Given the description of an element on the screen output the (x, y) to click on. 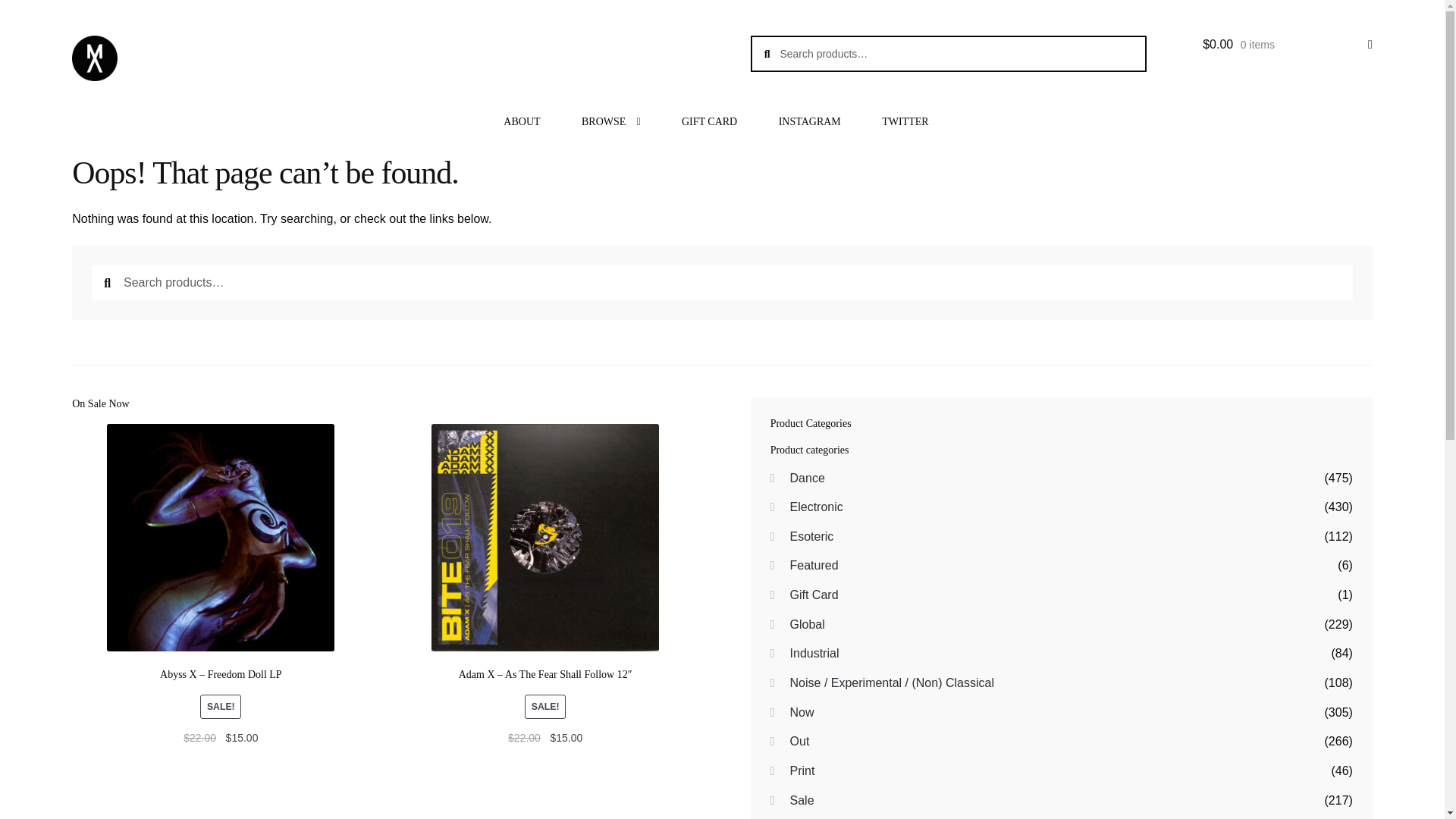
INSTAGRAM (809, 121)
TWITTER (905, 121)
ABOUT (521, 121)
BROWSE (610, 121)
GIFT CARD (708, 121)
GIFT CARD (708, 121)
View your shopping cart (1287, 44)
